Given the description of an element on the screen output the (x, y) to click on. 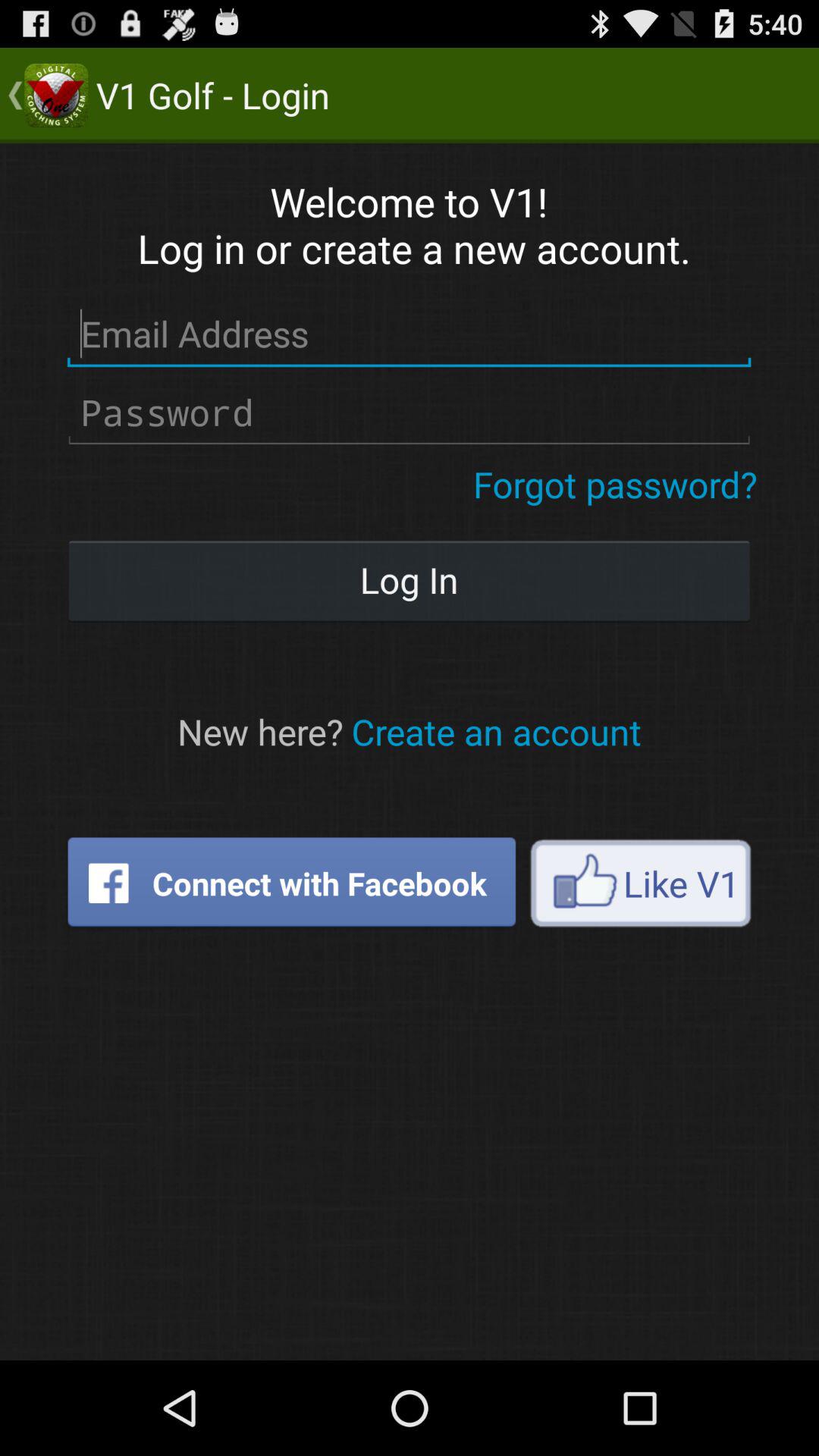
launch the icon on the right (639, 883)
